Given the description of an element on the screen output the (x, y) to click on. 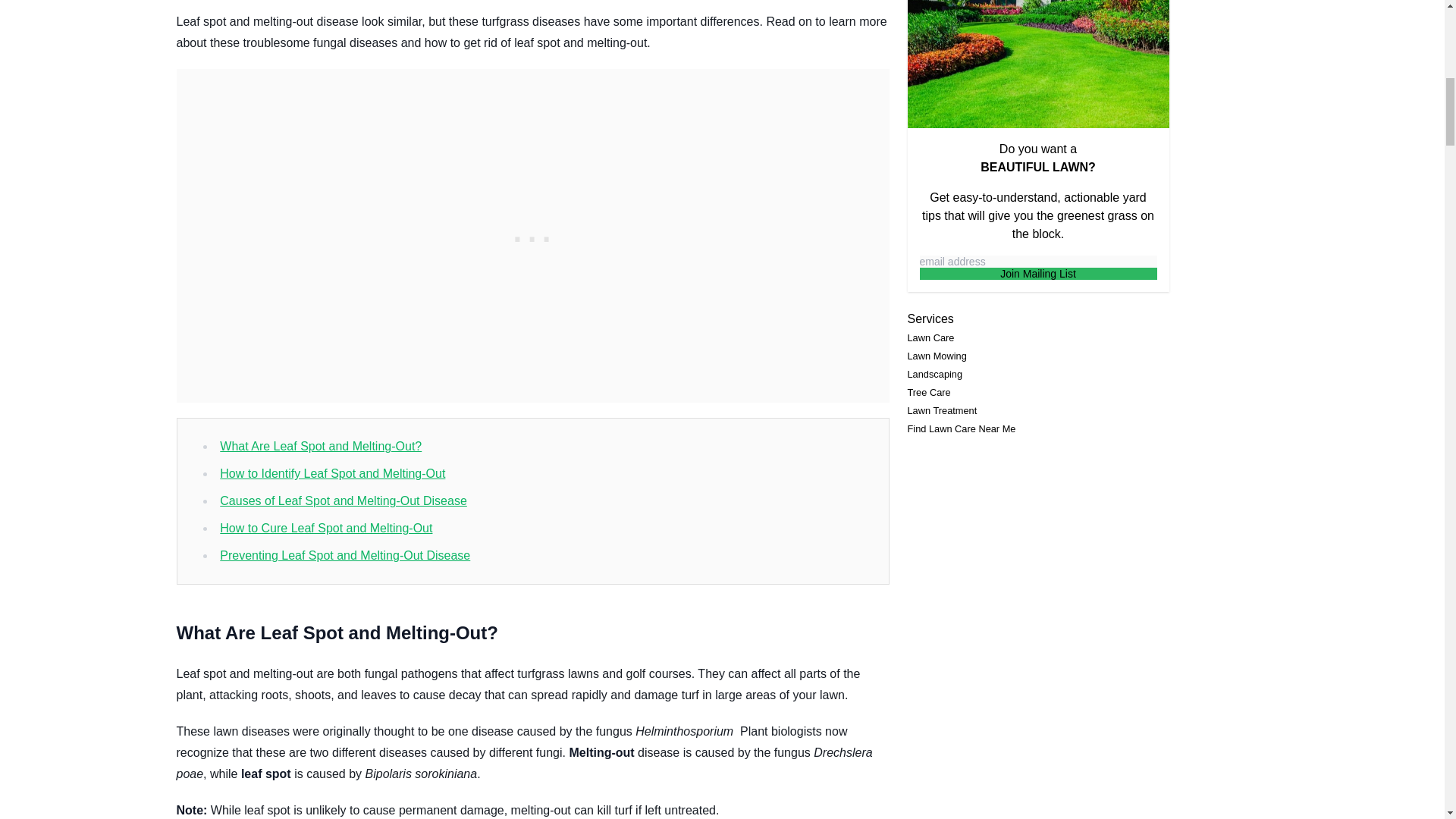
How to Identify Leaf Spot and Melting-Out (332, 472)
How to Cure Leaf Spot and Melting-Out (325, 527)
What Are Leaf Spot and Melting-Out? (320, 445)
Causes of Leaf Spot and Melting-Out Disease (343, 500)
Preventing Leaf Spot and Melting-Out Disease (344, 554)
Join Mailing List (1037, 273)
